Given the description of an element on the screen output the (x, y) to click on. 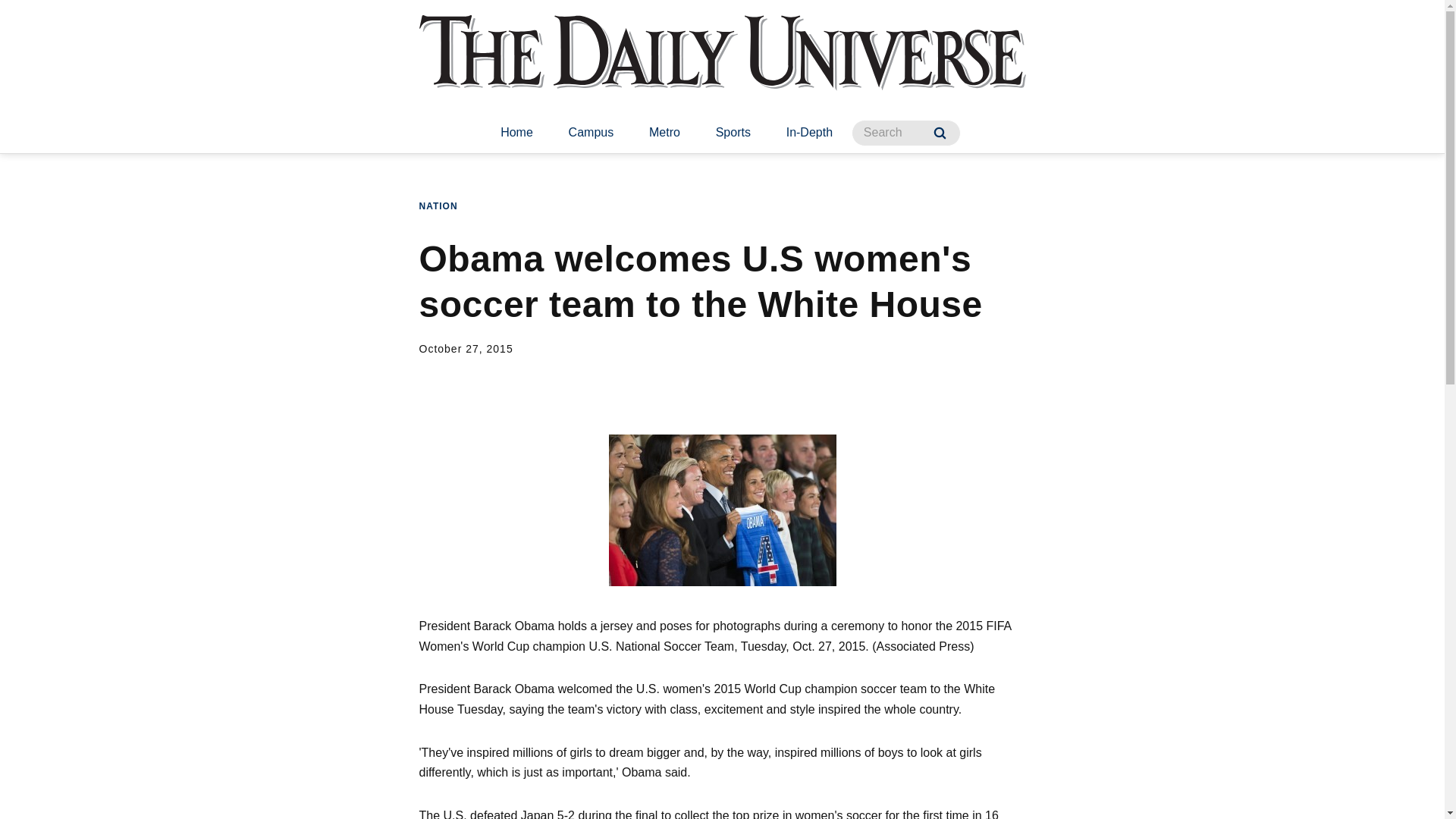
Search (939, 132)
Campus (590, 133)
In-Depth (809, 133)
NATION (438, 206)
Sports (732, 133)
Metro (664, 133)
Home (516, 133)
